Given the description of an element on the screen output the (x, y) to click on. 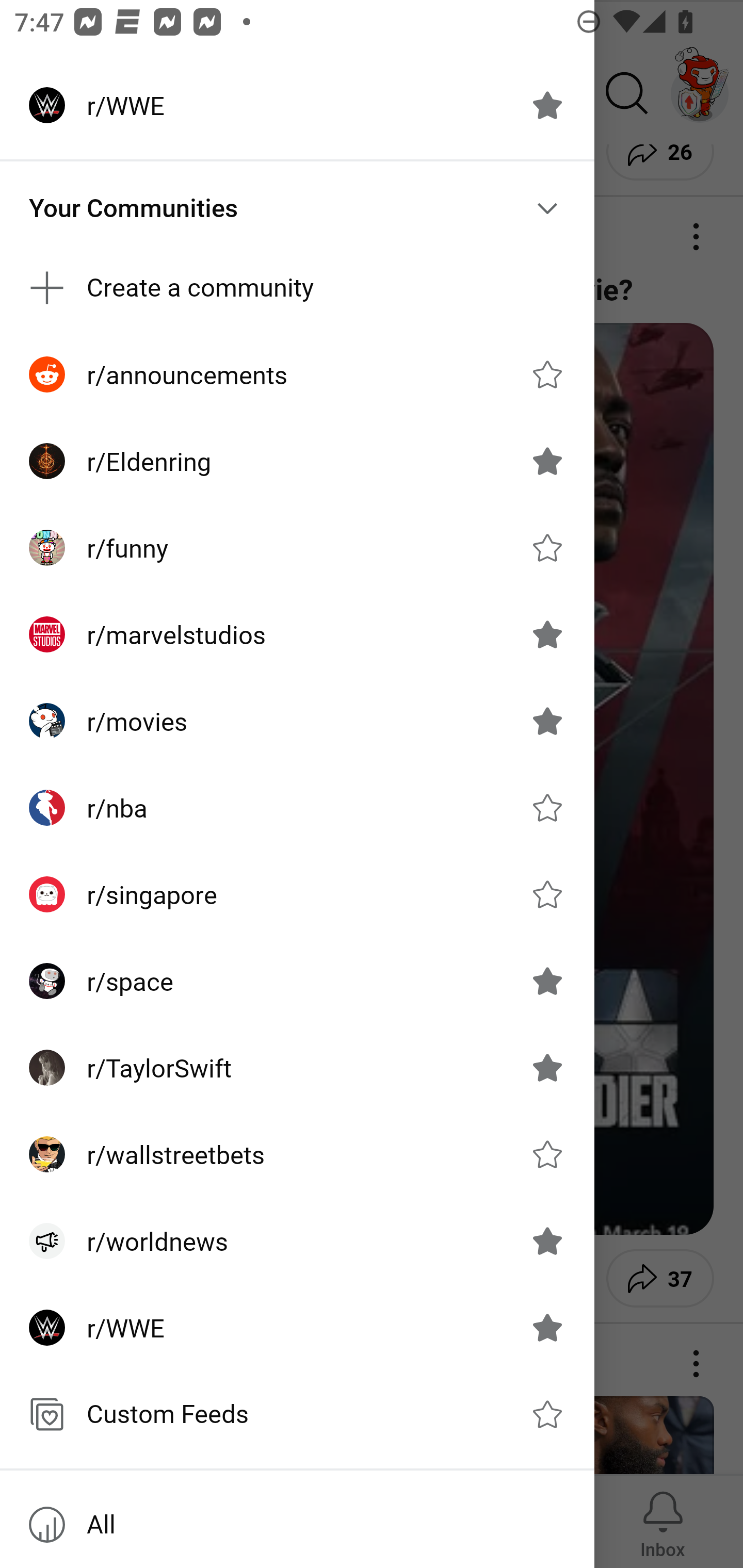
r/WWE Unfavorite r/WWE (297, 104)
Unfavorite r/WWE (546, 104)
Your Communities (297, 208)
Create a community (297, 287)
r/announcements Favorite r/announcements (297, 373)
Favorite r/announcements (546, 373)
r/Eldenring Unfavorite r/Eldenring (297, 460)
Unfavorite r/Eldenring (546, 460)
r/funny Favorite r/funny (297, 547)
Favorite r/funny (546, 548)
r/marvelstudios Unfavorite r/marvelstudios (297, 634)
Unfavorite r/marvelstudios (546, 634)
r/movies Unfavorite r/movies (297, 721)
Unfavorite r/movies (546, 721)
r/nba Favorite r/nba (297, 808)
Favorite r/nba (546, 807)
r/singapore Favorite r/singapore (297, 894)
Favorite r/singapore (546, 894)
r/space Unfavorite r/space (297, 980)
Unfavorite r/space (546, 980)
r/TaylorSwift Unfavorite r/TaylorSwift (297, 1067)
Unfavorite r/TaylorSwift (546, 1067)
r/wallstreetbets Favorite r/wallstreetbets (297, 1154)
Favorite r/wallstreetbets (546, 1154)
r/worldnews Unfavorite r/worldnews (297, 1240)
Unfavorite r/worldnews (546, 1241)
r/WWE Unfavorite r/WWE (297, 1327)
Unfavorite r/WWE (546, 1327)
Custom Feeds (297, 1414)
All (297, 1524)
